Given the description of an element on the screen output the (x, y) to click on. 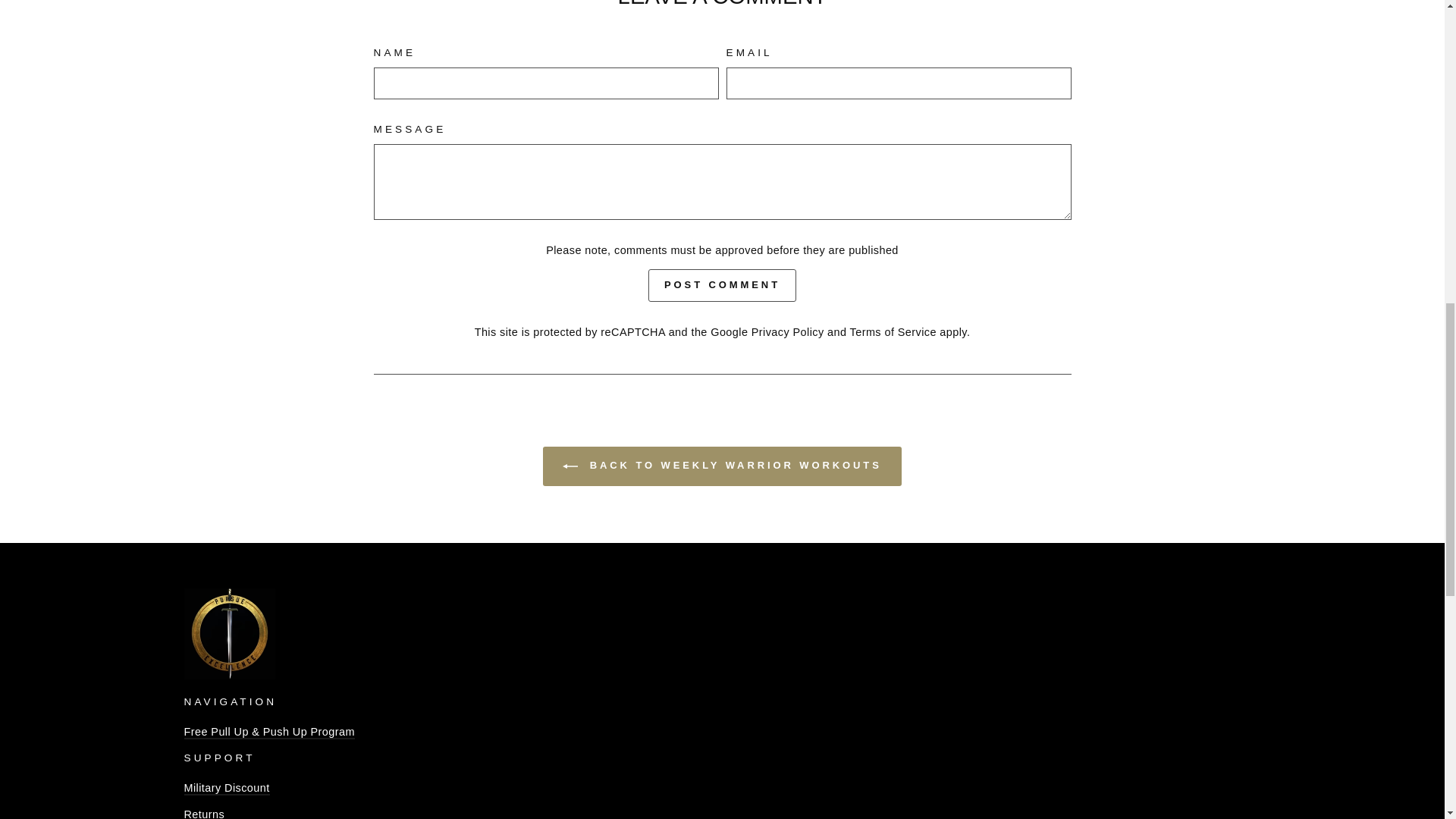
Returns Policy (203, 813)
